Given the description of an element on the screen output the (x, y) to click on. 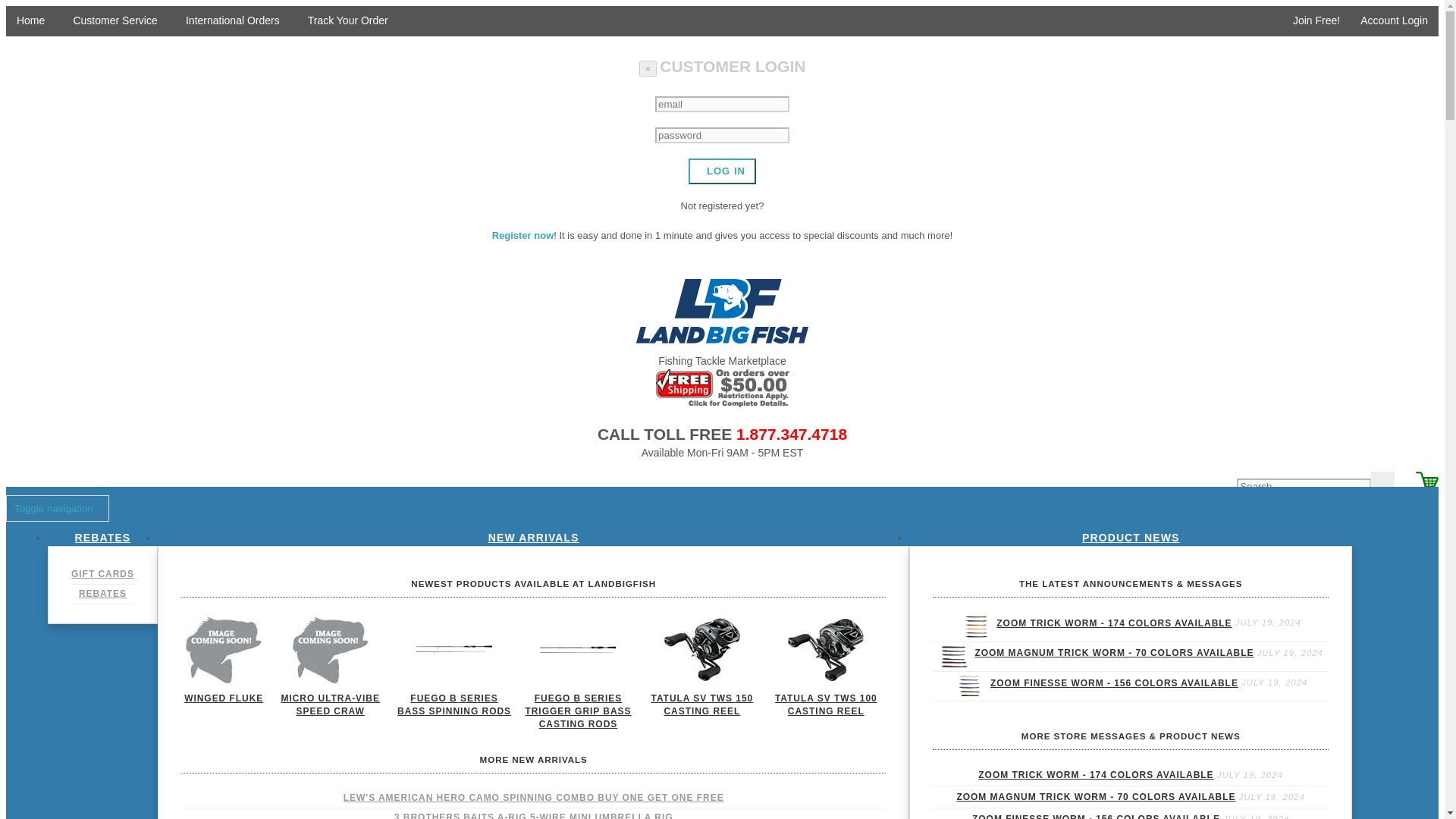
Account Login (1389, 20)
WINGED FLUKE (223, 698)
TATULA SV TWS 100 CASTING REEL (825, 705)
TATULA SV TWS 150 CASTING REEL (701, 705)
 Join Free! (1310, 20)
REBATES (102, 594)
 Customer Service (109, 20)
 Account Login (1389, 20)
Go to our homepage (25, 20)
LEW'S AMERICAN HERO CAMO SPINNING COMBO BUY ONE GET ONE FREE (533, 797)
NEW ARRIVALS (534, 537)
Customer Service (109, 20)
ZOOM MAGNUM TRICK WORM - 70 COLORS AVAILABLE (1113, 653)
MICRO ULTRA-VIBE SPEED CRAW (330, 705)
